Given the description of an element on the screen output the (x, y) to click on. 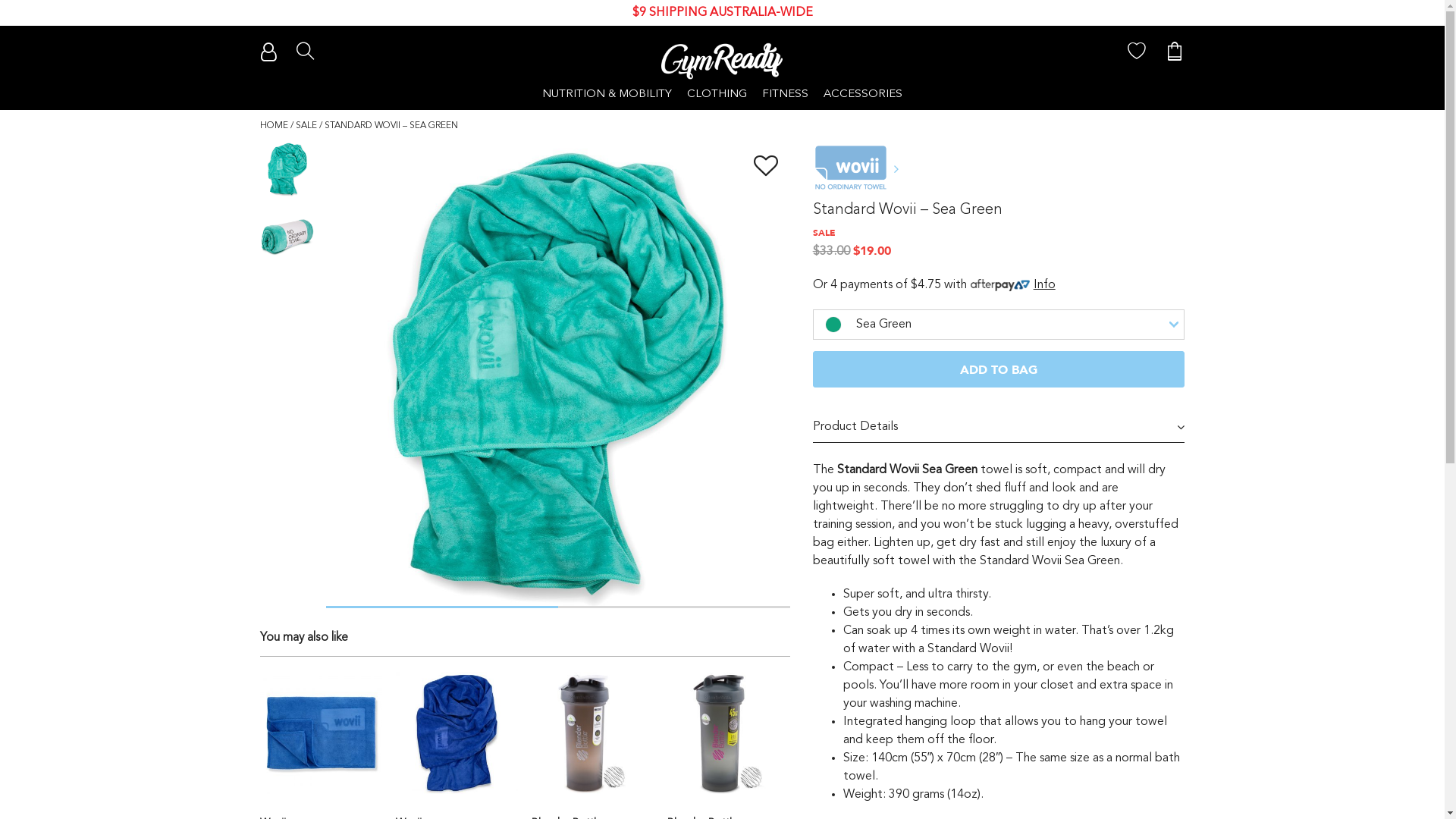
ADD TO BAG Element type: text (998, 369)
Info Element type: text (1044, 285)
View brand Element type: hover (857, 170)
CLOTHING Element type: text (716, 94)
$9 SHIPPING AUSTRALIA-WIDE Element type: text (721, 12)
SALE Element type: text (305, 125)
HOME Element type: text (273, 125)
Product Details Element type: text (998, 426)
FITNESS Element type: text (784, 94)
Search Element type: text (925, 43)
NUTRITION & MOBILITY Element type: text (606, 94)
Add to Wishlist Element type: hover (765, 168)
ACCESSORIES Element type: text (862, 94)
